Given the description of an element on the screen output the (x, y) to click on. 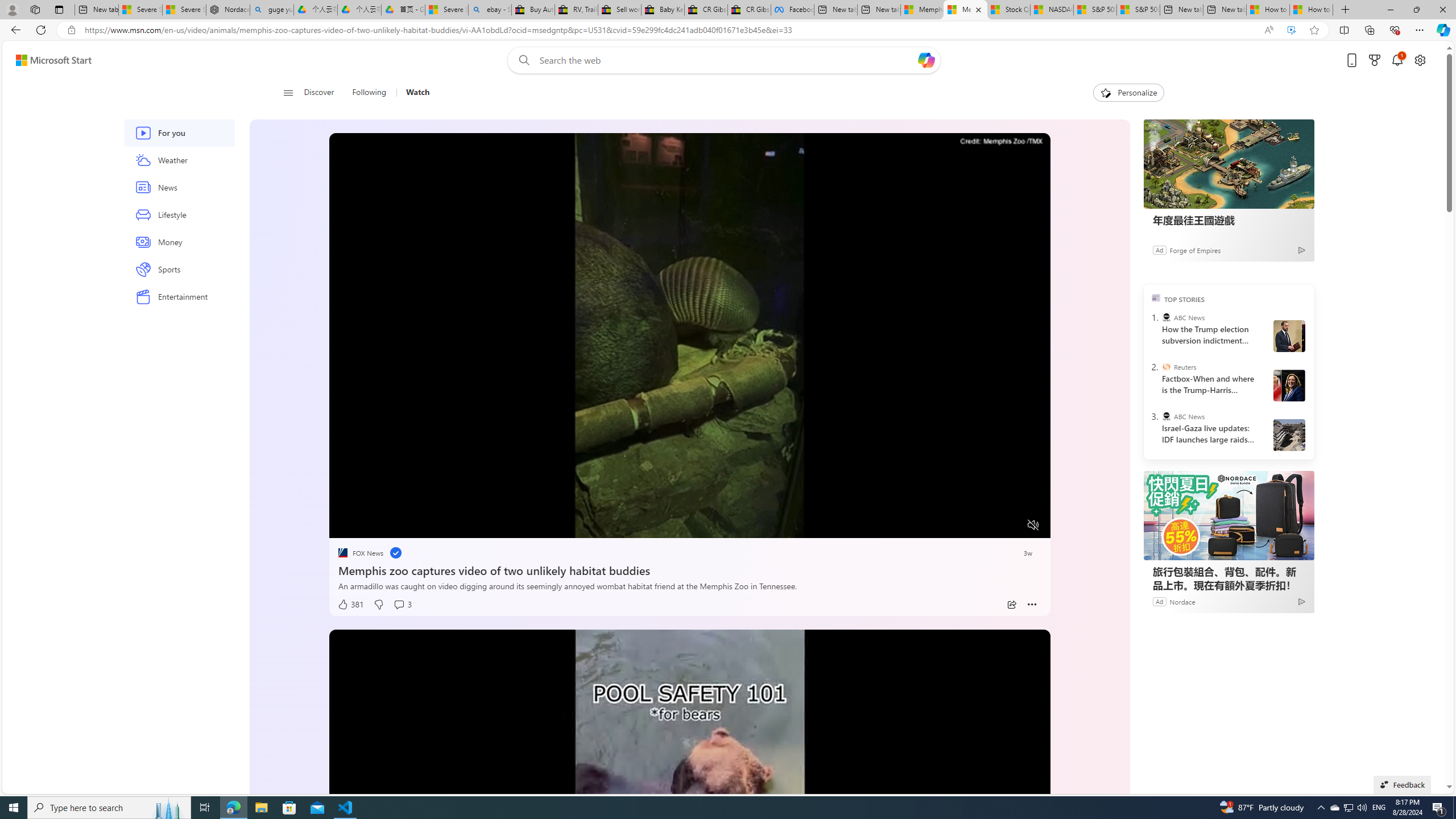
Seek Back (368, 525)
S&P 500, Nasdaq end lower, weighed by Nvidia dip | Watch (1138, 9)
RV, Trailer & Camper Steps & Ladders for sale | eBay (576, 9)
More (1031, 604)
Baby Keepsakes & Announcements for sale | eBay (662, 9)
Progress Bar (689, 510)
More (1031, 604)
Share (1010, 604)
Forge of Empires (1194, 249)
Personalize (1128, 92)
